Given the description of an element on the screen output the (x, y) to click on. 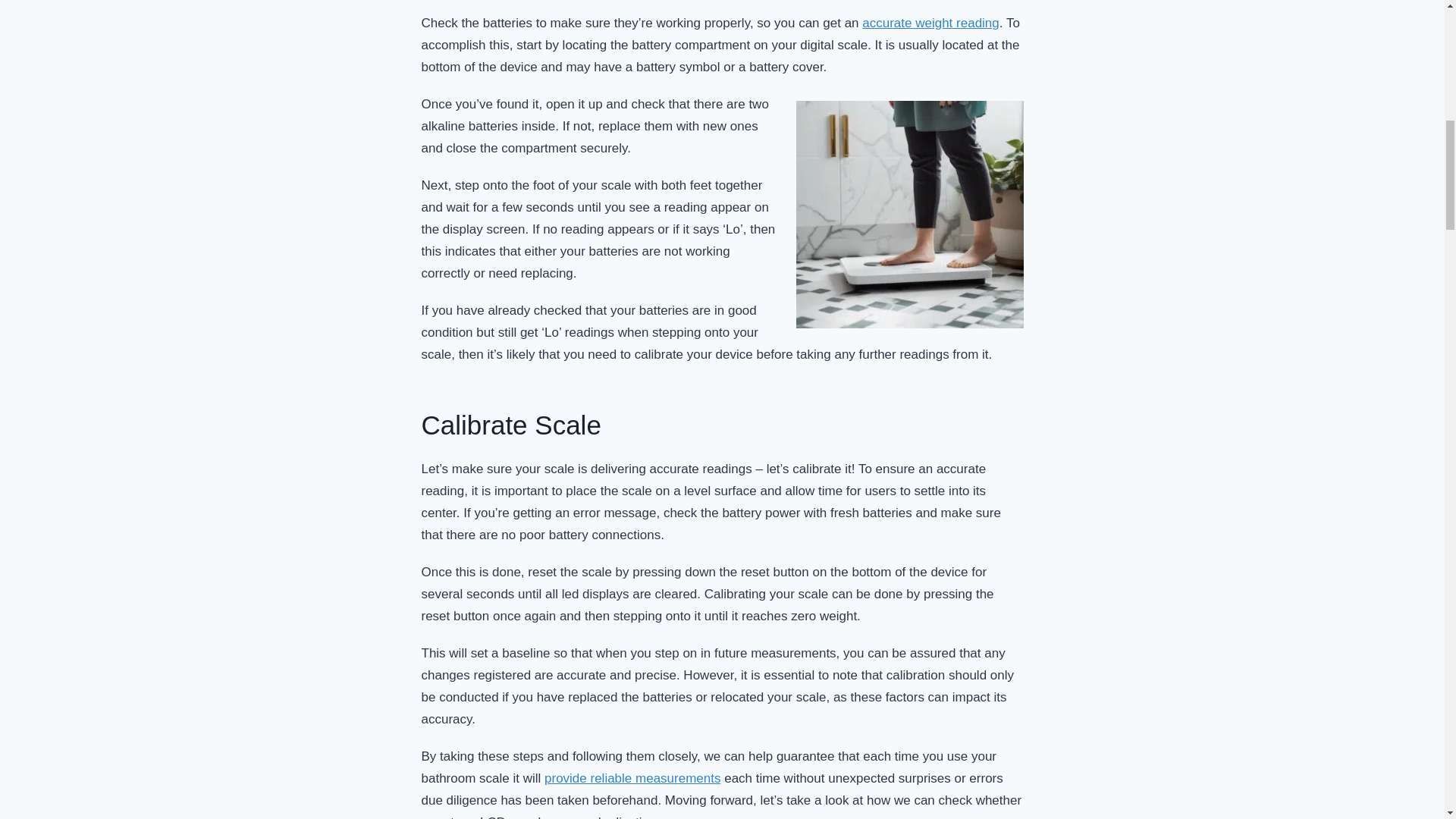
accurate weight reading (929, 22)
provide reliable measurements (632, 778)
